Given the description of an element on the screen output the (x, y) to click on. 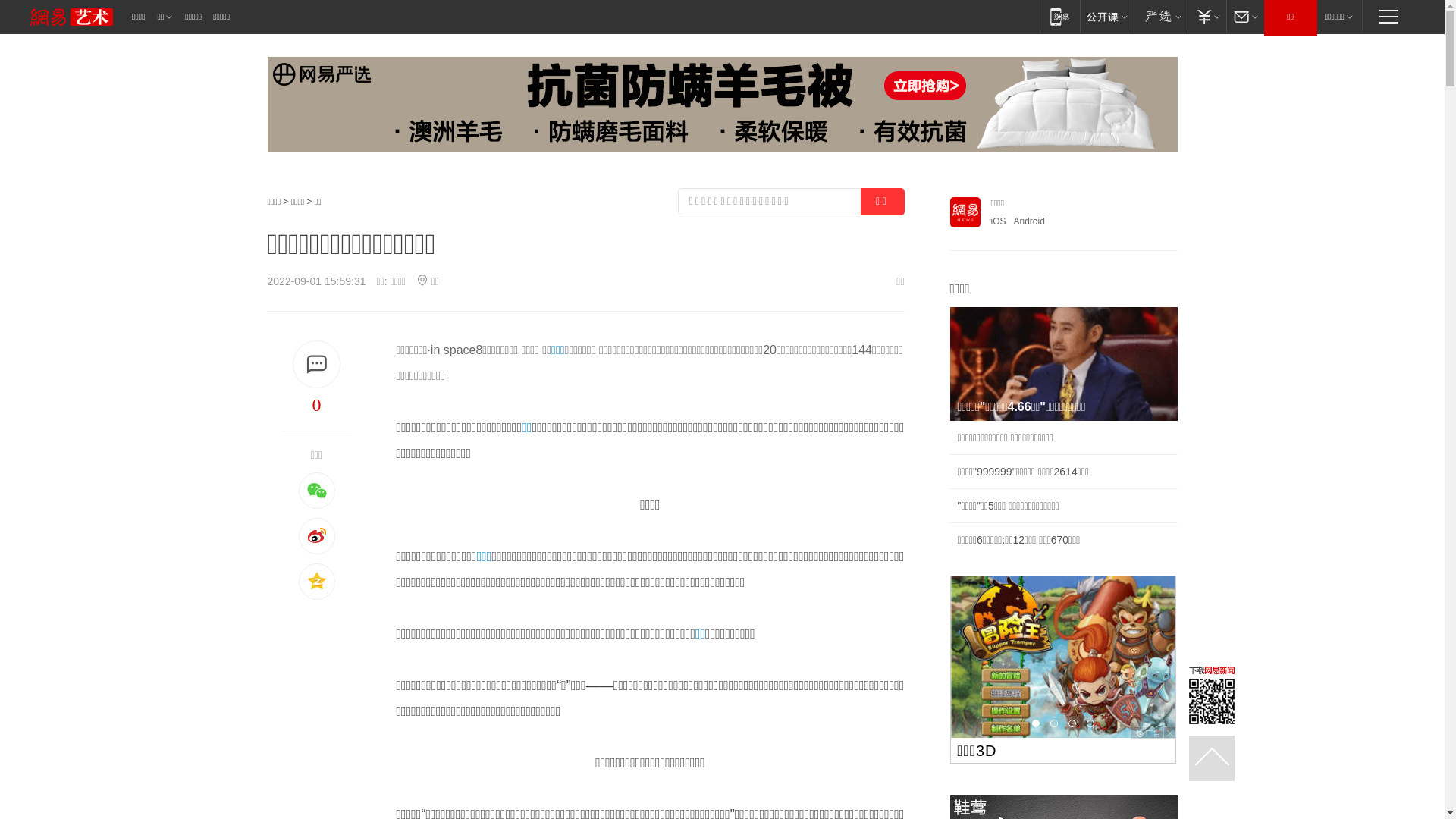
0 Element type: text (315, 404)
